Given the description of an element on the screen output the (x, y) to click on. 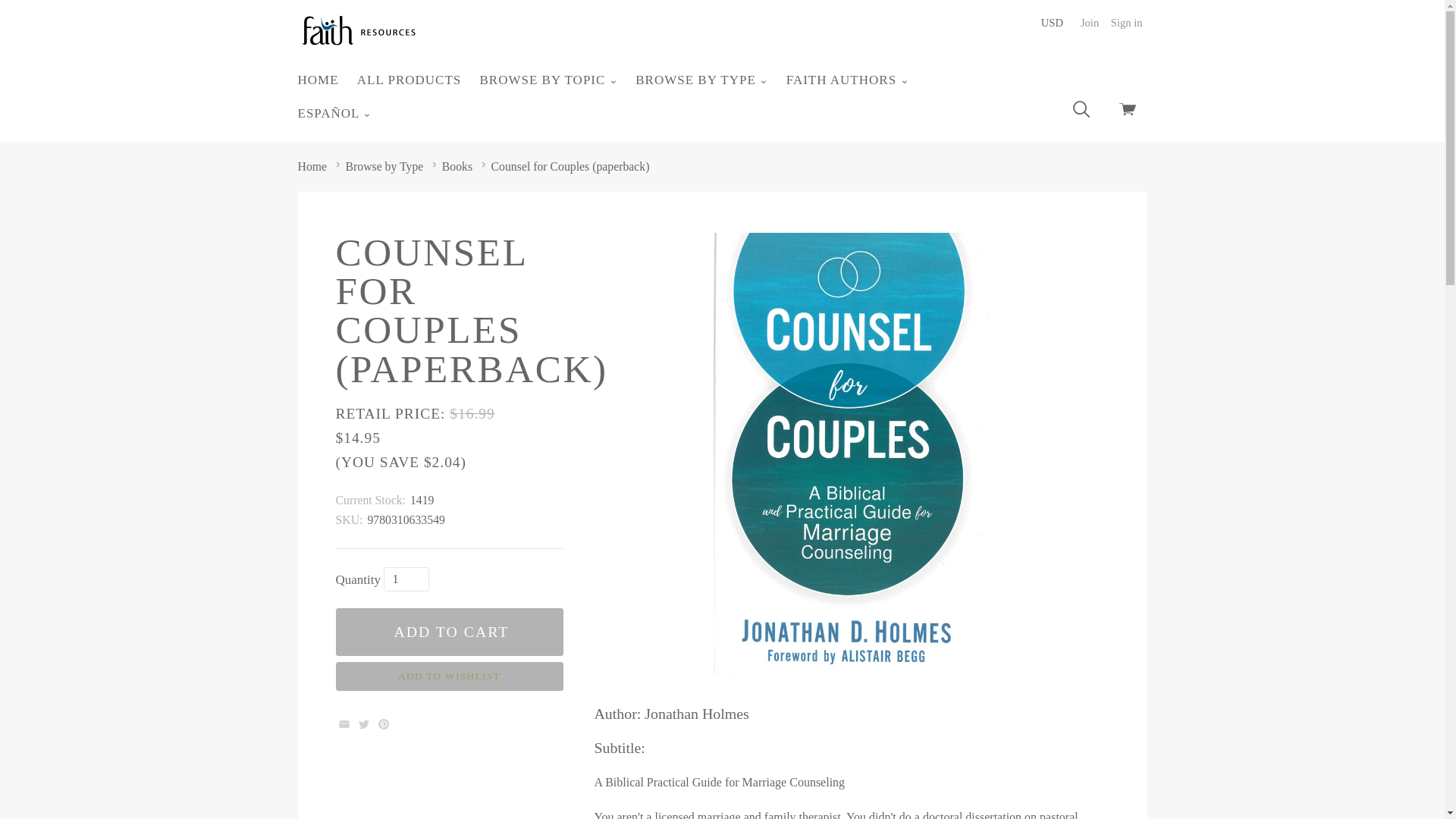
ALL PRODUCTS (409, 80)
Join (1089, 22)
1 (406, 579)
Sign in (1126, 22)
View cart (1127, 112)
BROWSE BY TOPIC (547, 80)
View cart (1127, 112)
HOME (317, 80)
